Given the description of an element on the screen output the (x, y) to click on. 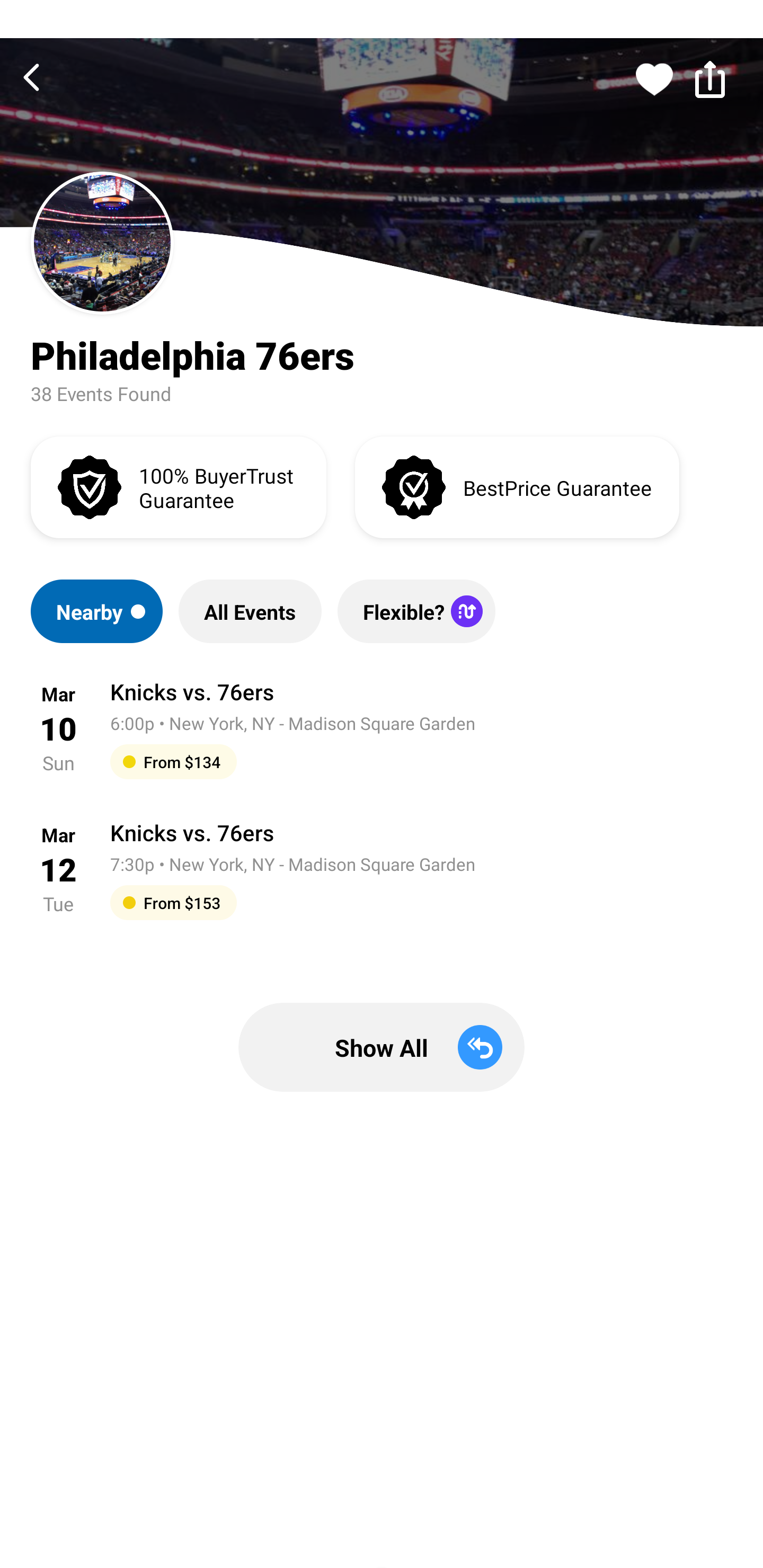
100% BuyerTrust Guarantee (178, 486)
BestPrice Guarantee (516, 486)
Nearby (96, 611)
All Events (249, 611)
Flexible? (416, 611)
Show All (381, 1047)
